Given the description of an element on the screen output the (x, y) to click on. 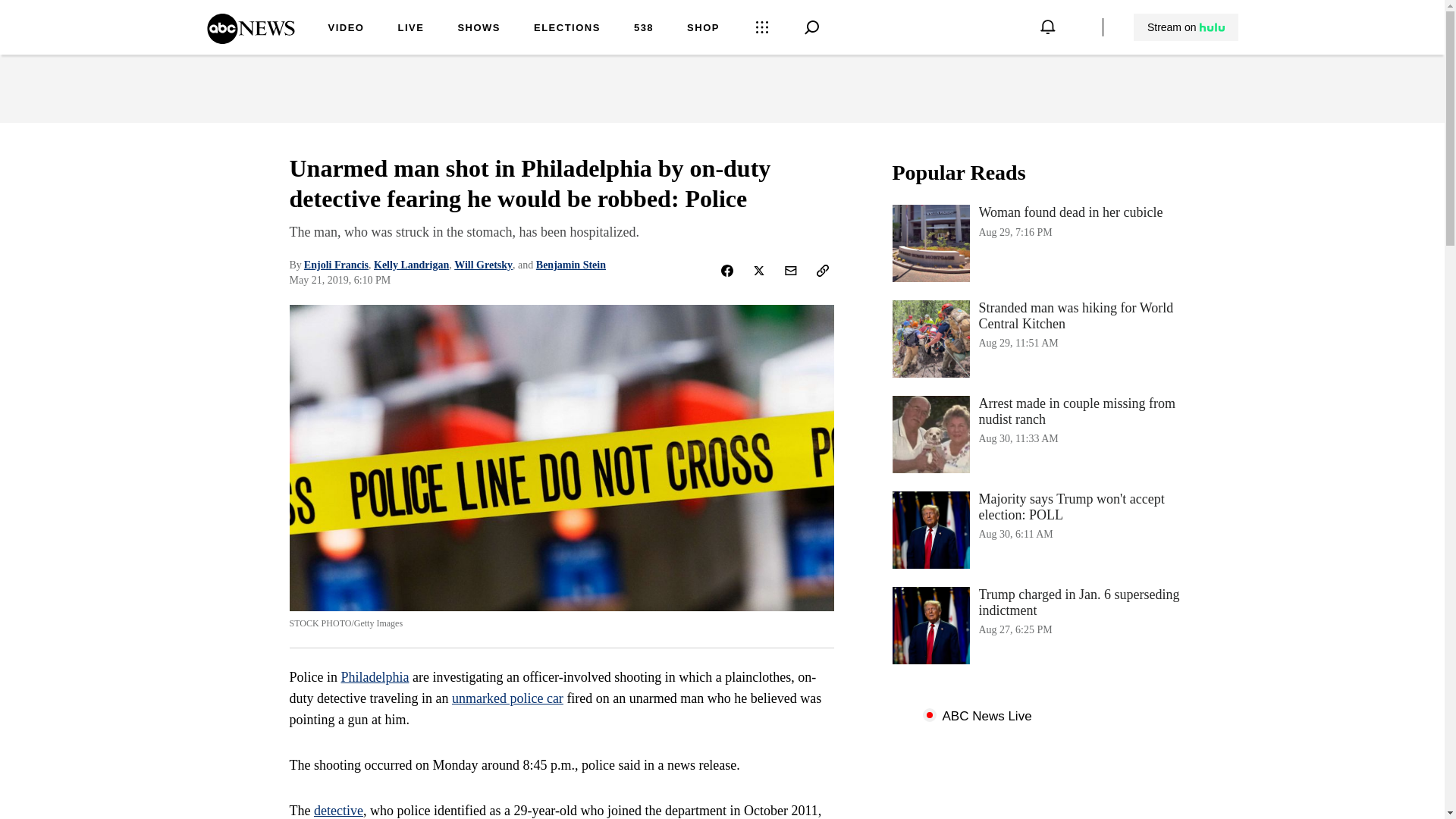
Kelly Landrigan (411, 265)
SHOWS (478, 28)
538 (643, 28)
ELECTIONS (566, 28)
Enjoli Francis (336, 265)
Philadelphia (1043, 242)
